Given the description of an element on the screen output the (x, y) to click on. 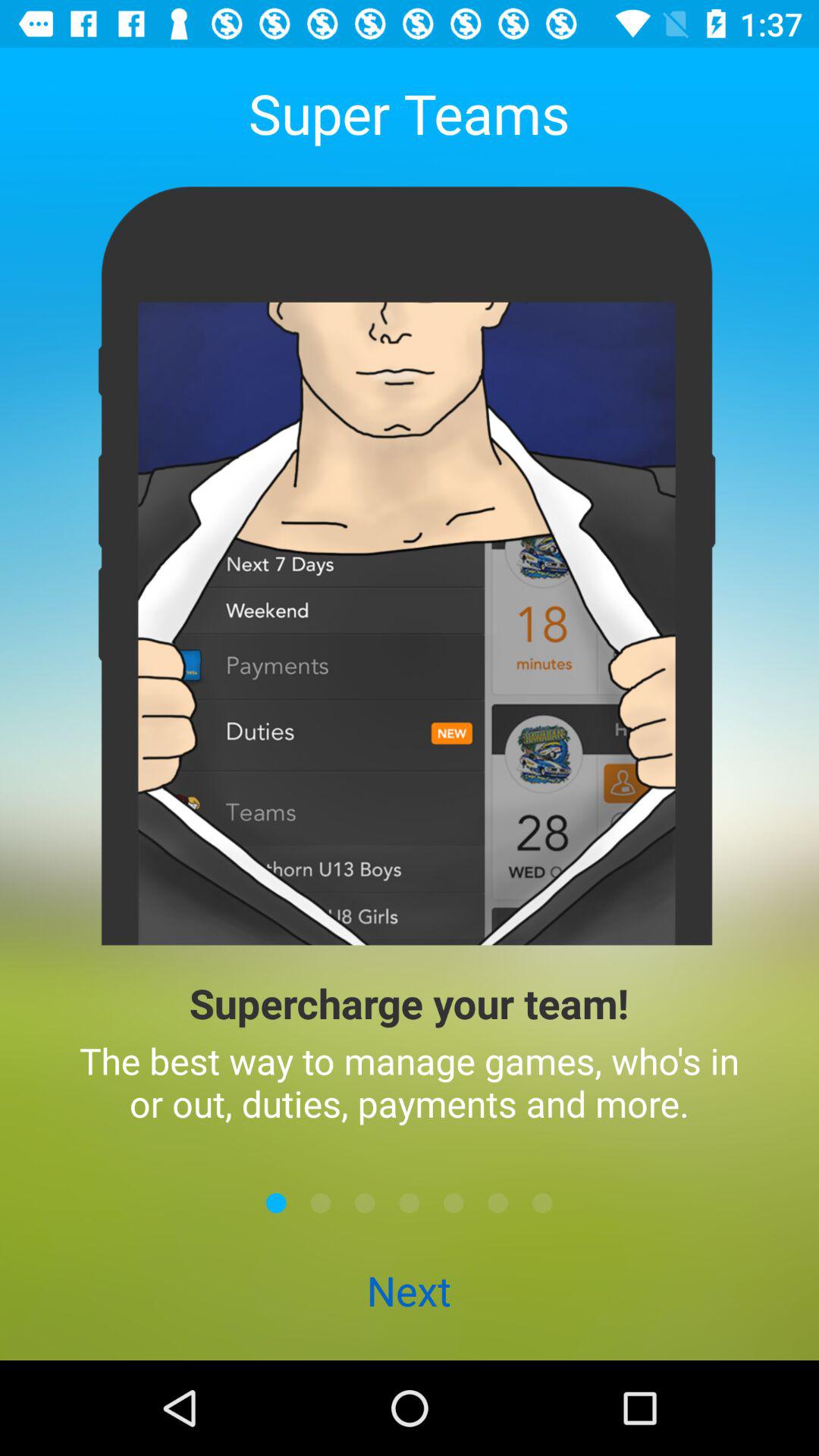
select the item below the best way item (320, 1203)
